Given the description of an element on the screen output the (x, y) to click on. 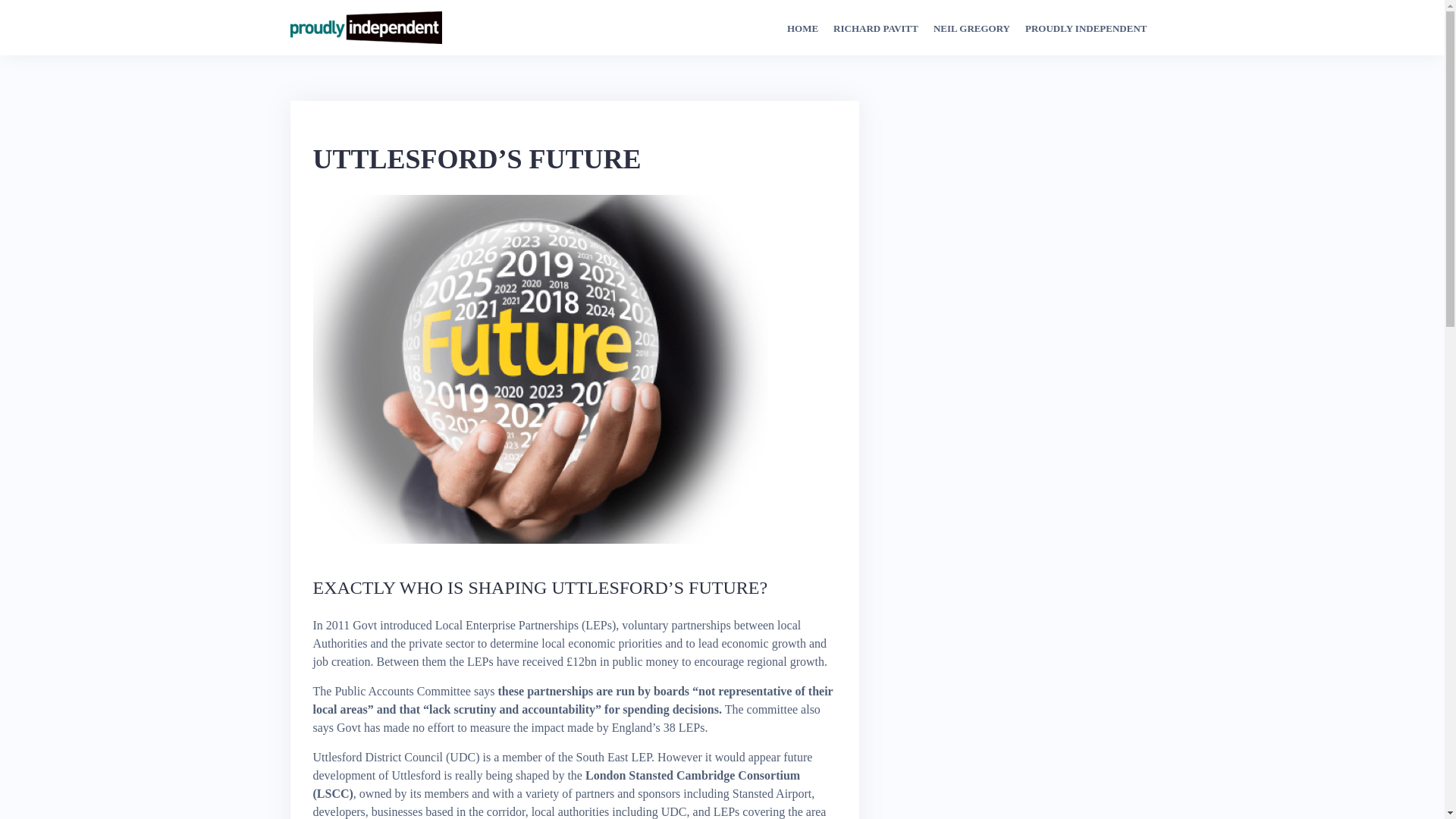
NEIL GREGORY (971, 28)
HOME (802, 28)
RICHARD PAVITT (875, 28)
PROUDLY INDEPENDENT (1086, 28)
